Given the description of an element on the screen output the (x, y) to click on. 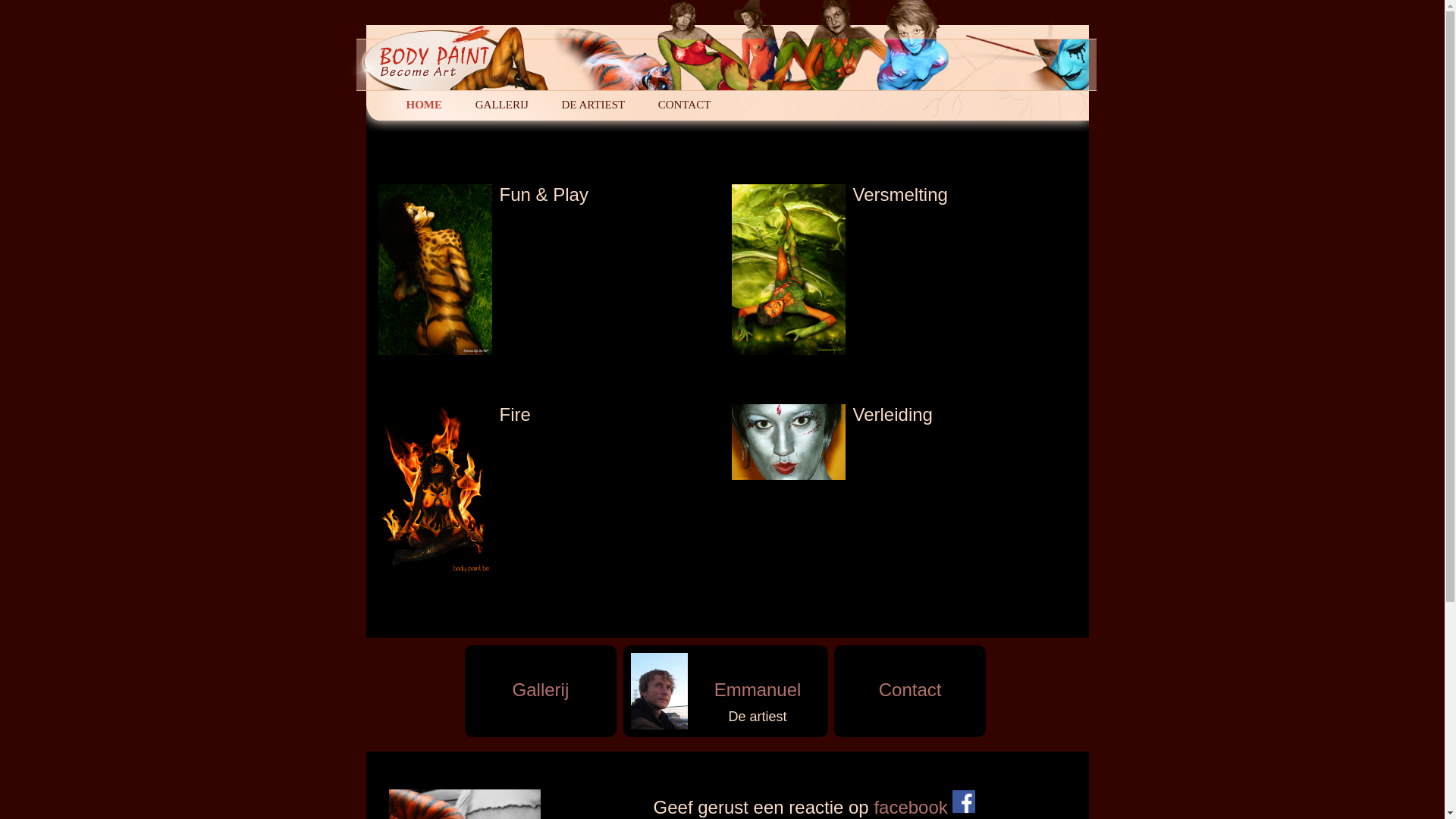
CONTACT Element type: text (684, 104)
DE ARTIEST Element type: text (592, 104)
Contact Element type: text (909, 691)
facebook Element type: text (924, 807)
HOME Element type: text (424, 104)
Gallerij Element type: text (540, 691)
Emmanuel Element type: text (757, 674)
GALLERIJ Element type: text (501, 104)
Emmanuel
De artiest Element type: text (725, 691)
